Given the description of an element on the screen output the (x, y) to click on. 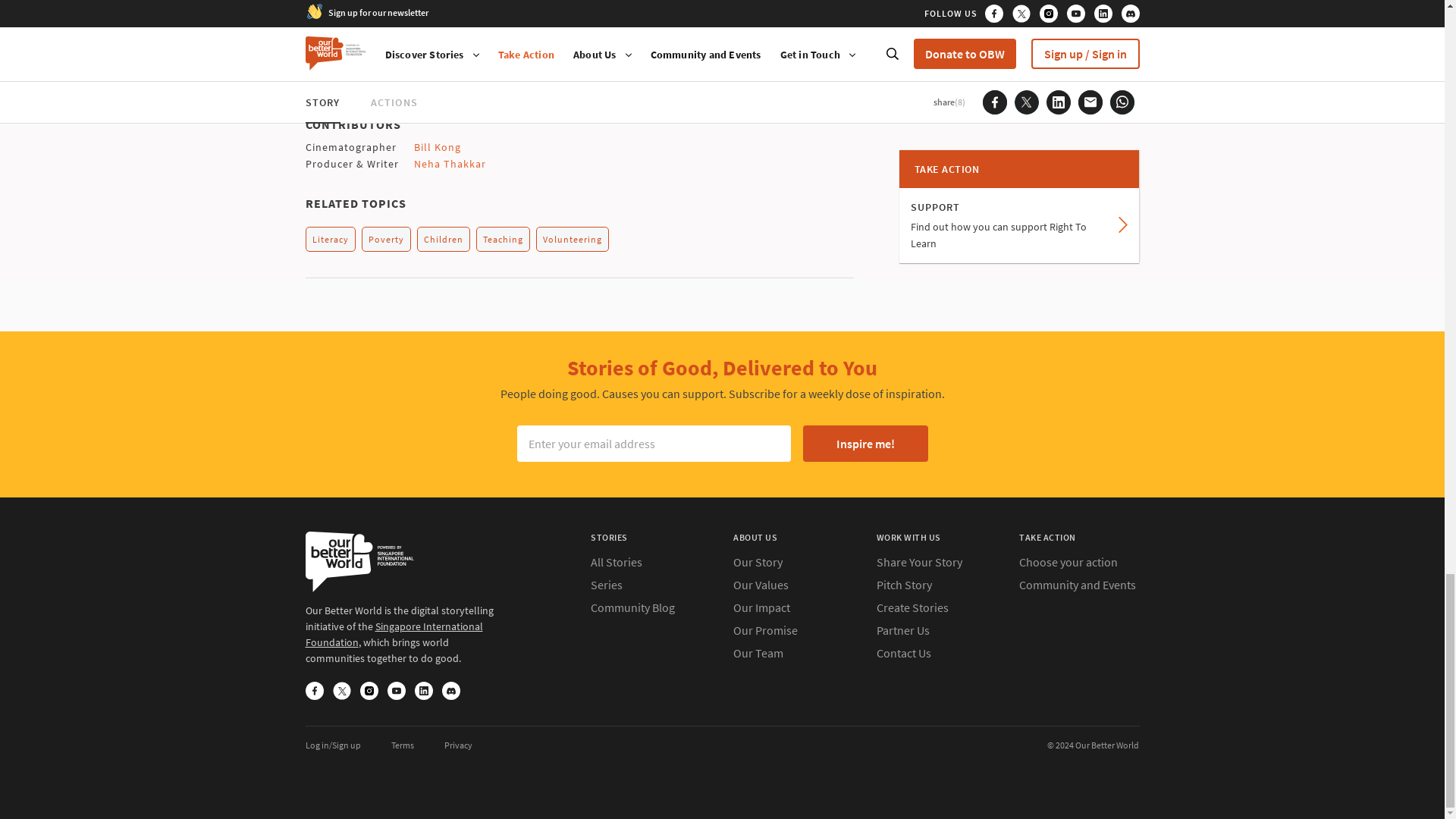
Search (633, 607)
Inspire me! (864, 443)
